Given the description of an element on the screen output the (x, y) to click on. 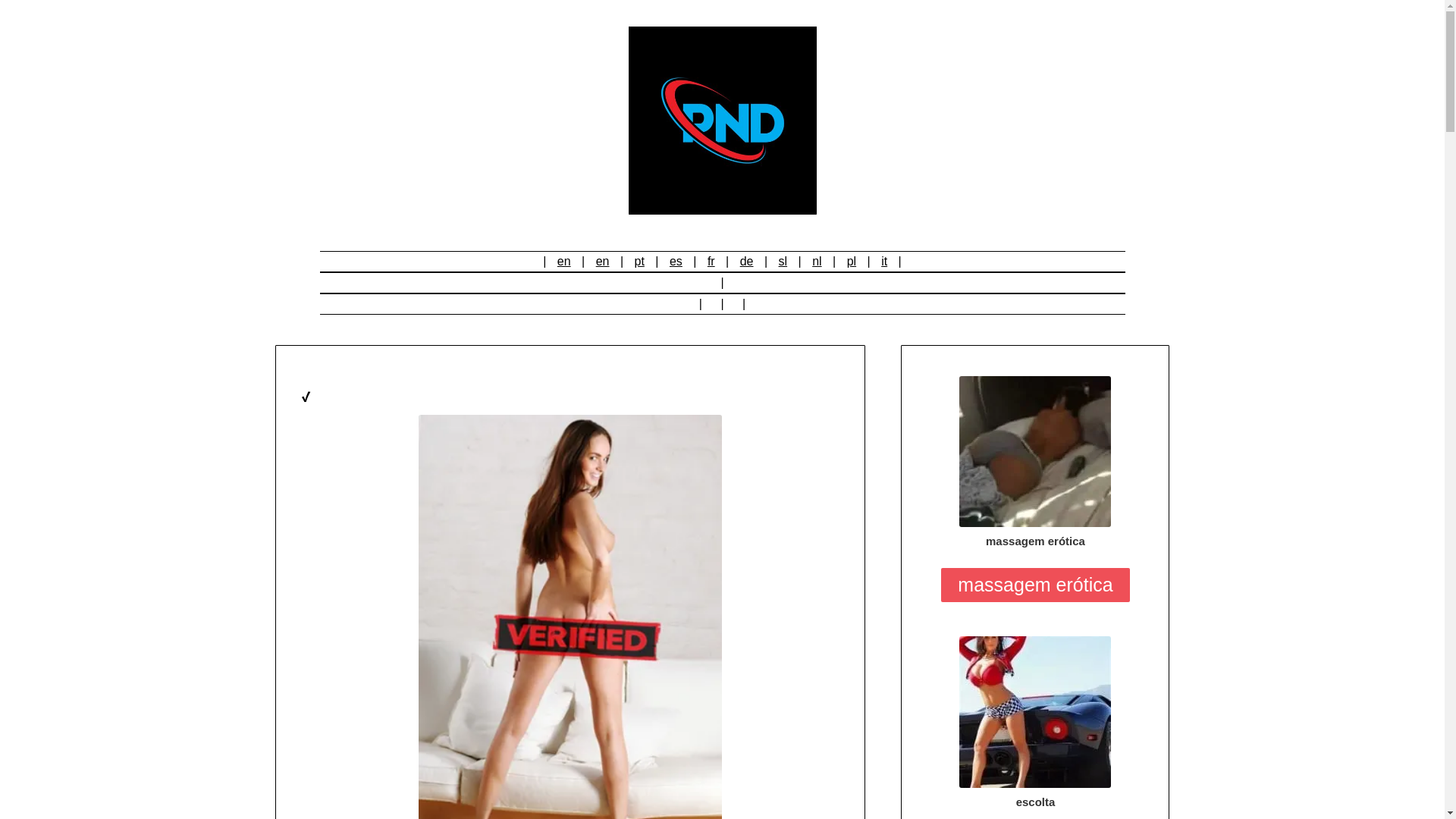
es (676, 261)
Meet (1034, 711)
en (602, 261)
de (746, 261)
pt (639, 261)
Meet (1034, 451)
en (564, 261)
